Given the description of an element on the screen output the (x, y) to click on. 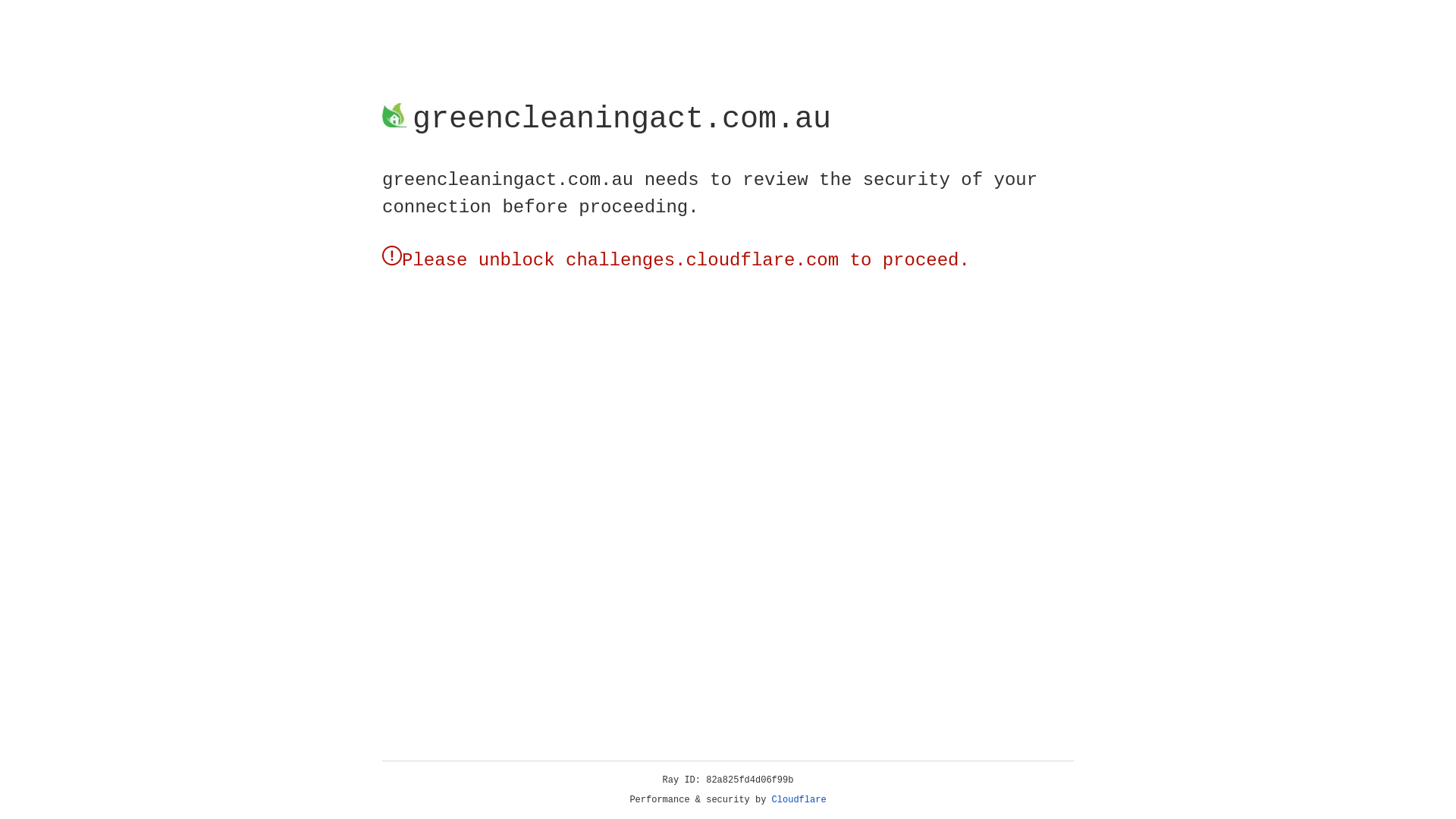
Cloudflare Element type: text (798, 799)
